Given the description of an element on the screen output the (x, y) to click on. 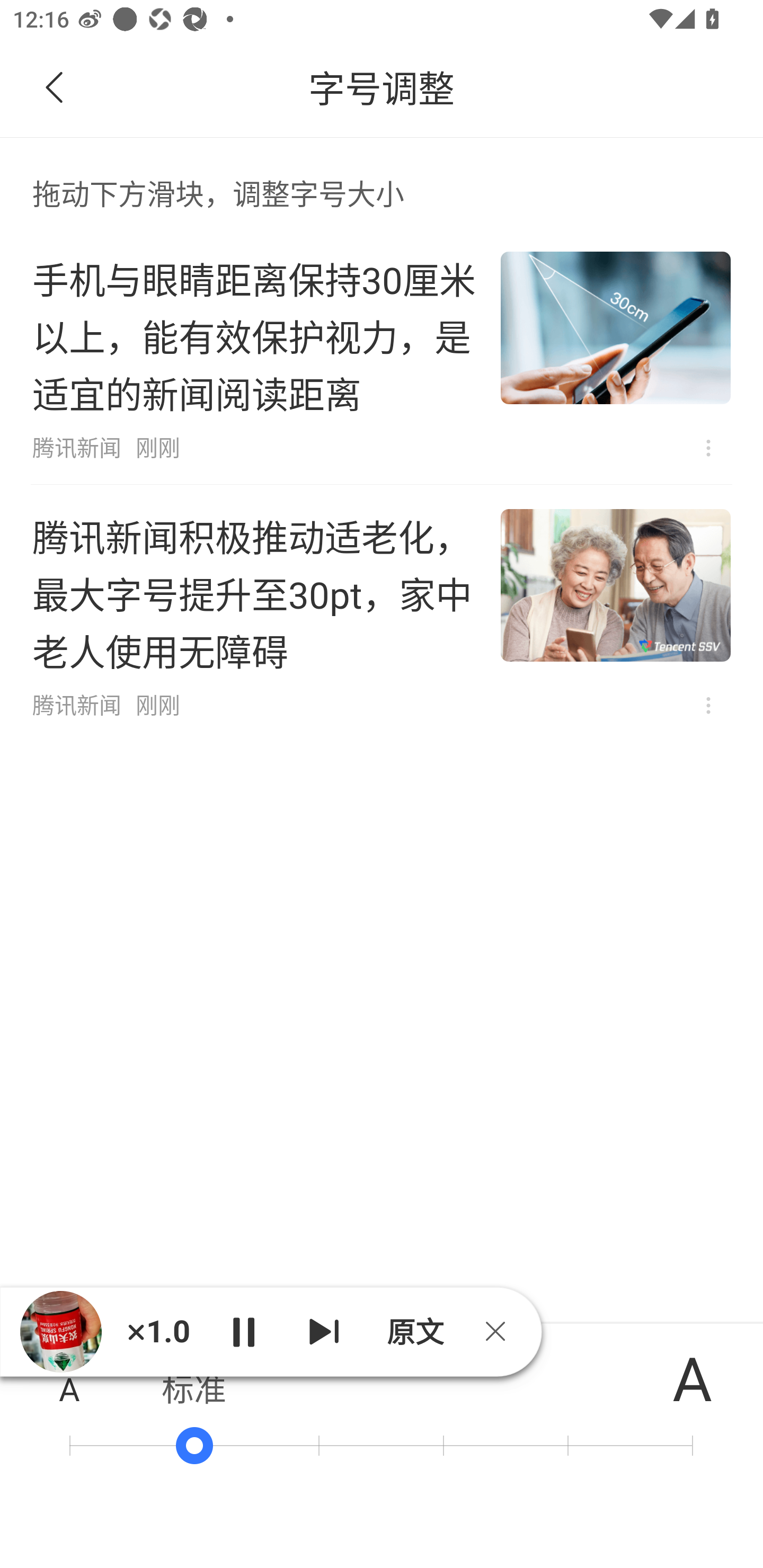
 返回 (54, 87)
手机与眼睛距离保持30厘米以上，能有效保护视力，是适宜的新闻阅读距离 腾讯新闻 刚刚  不感兴趣 (381, 355)
 不感兴趣 (707, 448)
腾讯新闻积极推动适老化，最大字号提升至30pt，家中老人使用无障碍 腾讯新闻 刚刚  不感兴趣 (381, 612)
 不感兴趣 (707, 705)
 播放 (242, 1330)
 下一个 (323, 1330)
播放器 (60, 1331)
 关闭 (501, 1330)
原文 (413, 1331)
 1.0 (157, 1330)
